Given the description of an element on the screen output the (x, y) to click on. 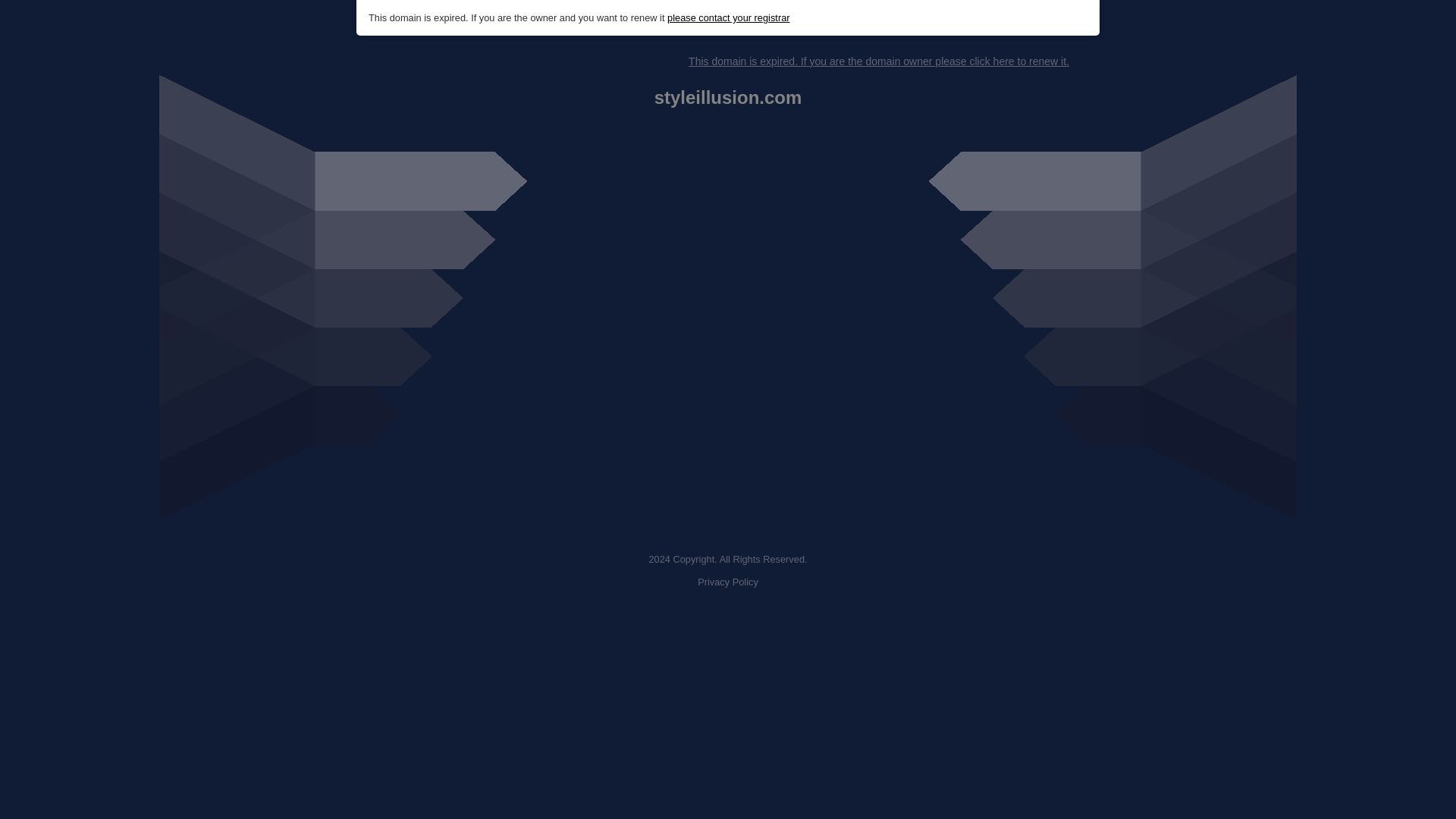
please contact your registrar (727, 17)
Privacy Policy (727, 582)
